Given the description of an element on the screen output the (x, y) to click on. 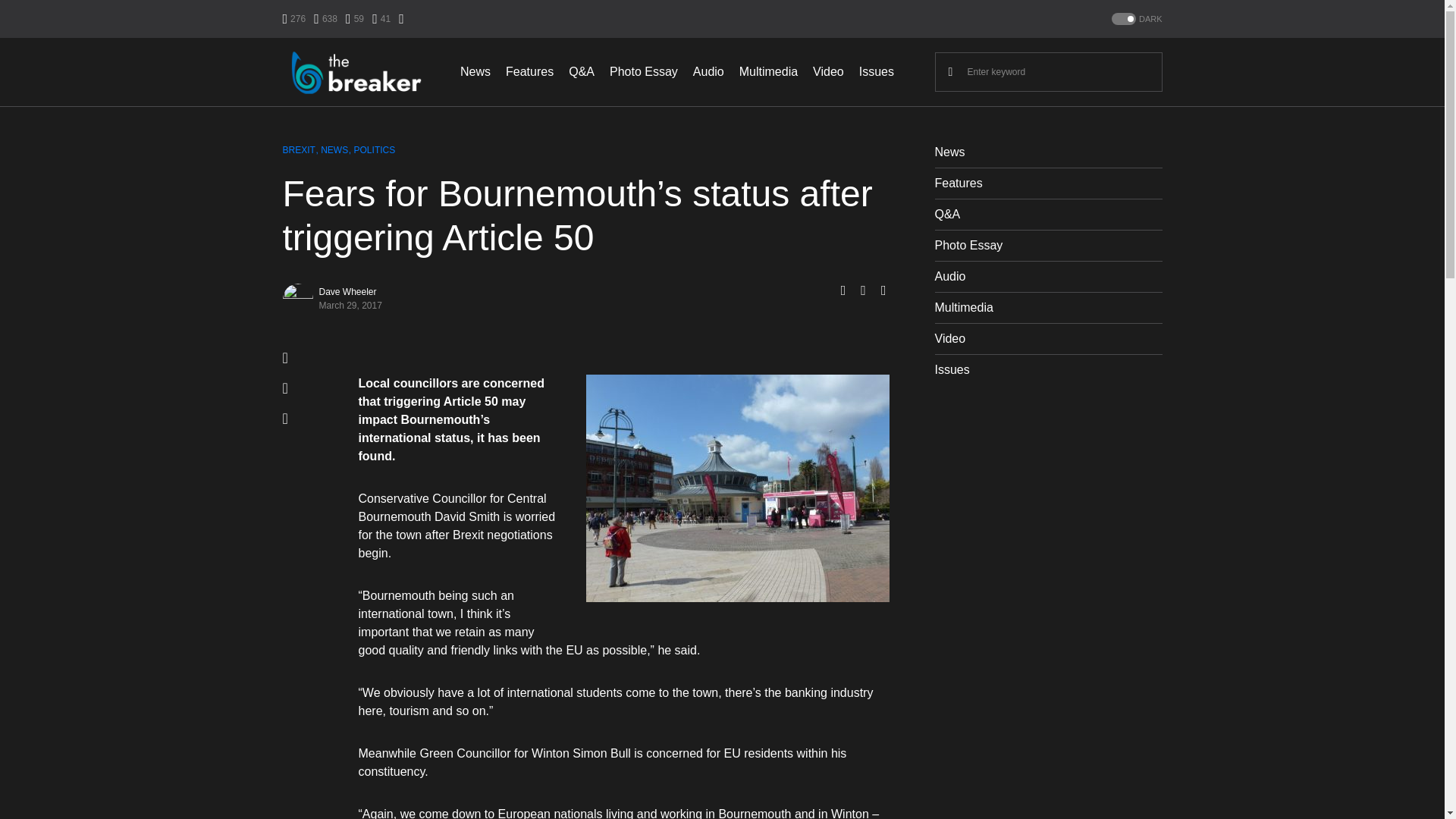
638 (325, 18)
276 (293, 18)
41 (381, 18)
Photo Essay (644, 71)
59 (355, 18)
